Given the description of an element on the screen output the (x, y) to click on. 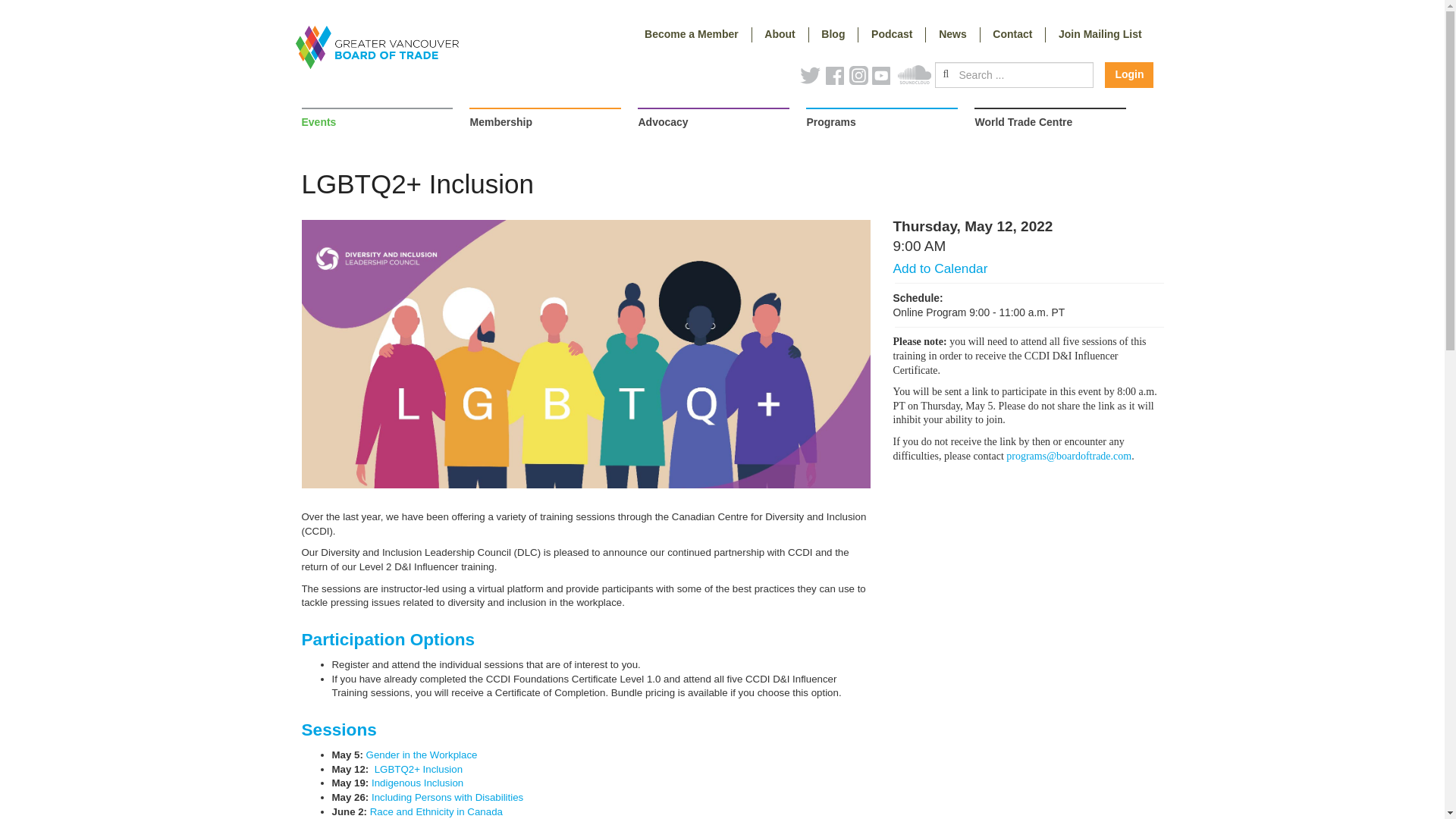
News (952, 34)
VBOT YouTube (885, 80)
Become a Member (691, 34)
Greater Vancouver Board of Trade (376, 46)
Add to Calendar (940, 268)
World Trade Centre (1049, 124)
Indigenous Inclusion (415, 782)
Gender in the Workplace (421, 754)
Podcast (892, 34)
Login (1128, 74)
Race and Ethnicity in Canada (435, 811)
About (780, 34)
Contact (1012, 34)
Programs (882, 124)
Join Mailing List (1099, 34)
